Given the description of an element on the screen output the (x, y) to click on. 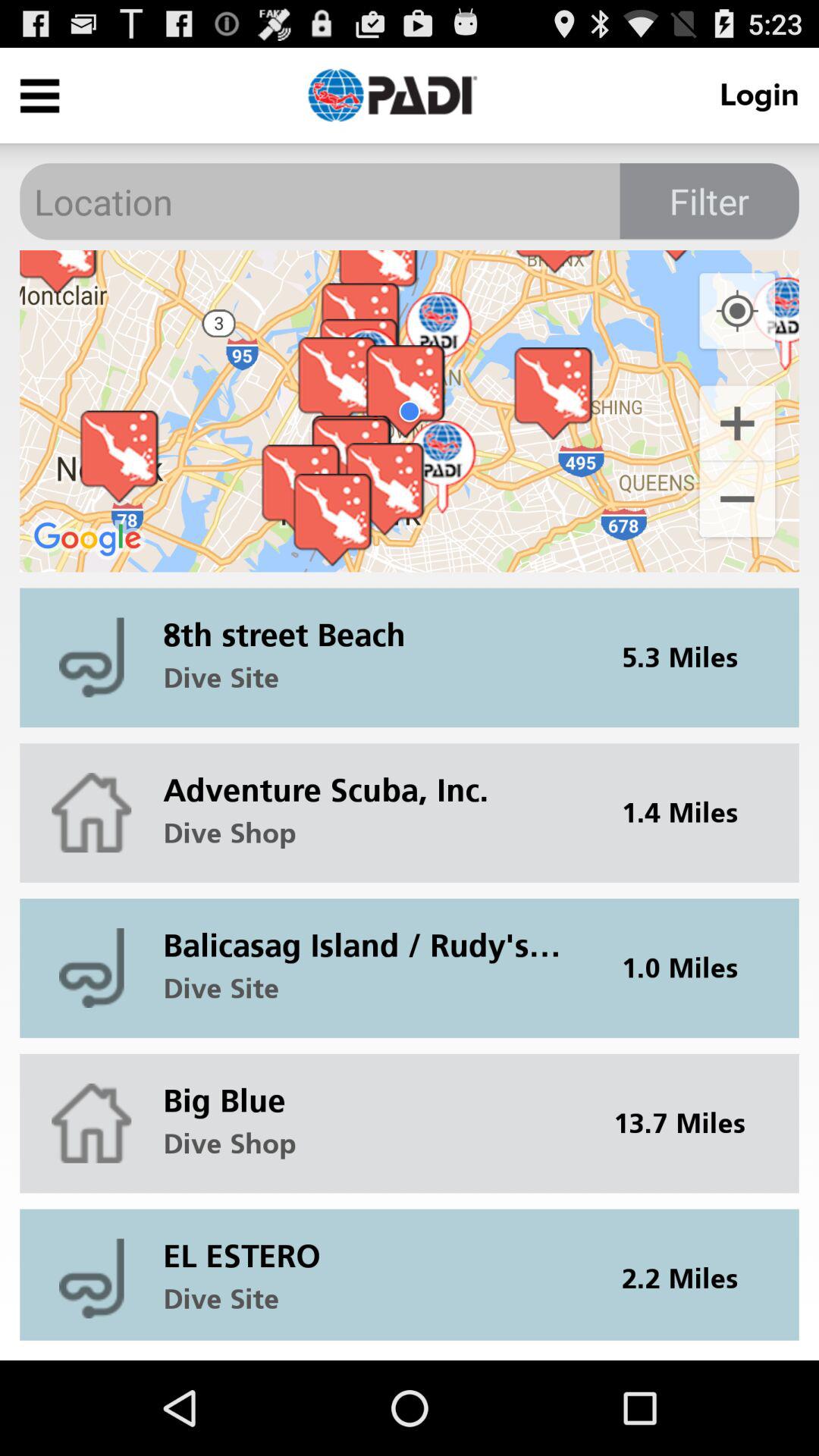
tap the icon above the dive site item (371, 1244)
